Given the description of an element on the screen output the (x, y) to click on. 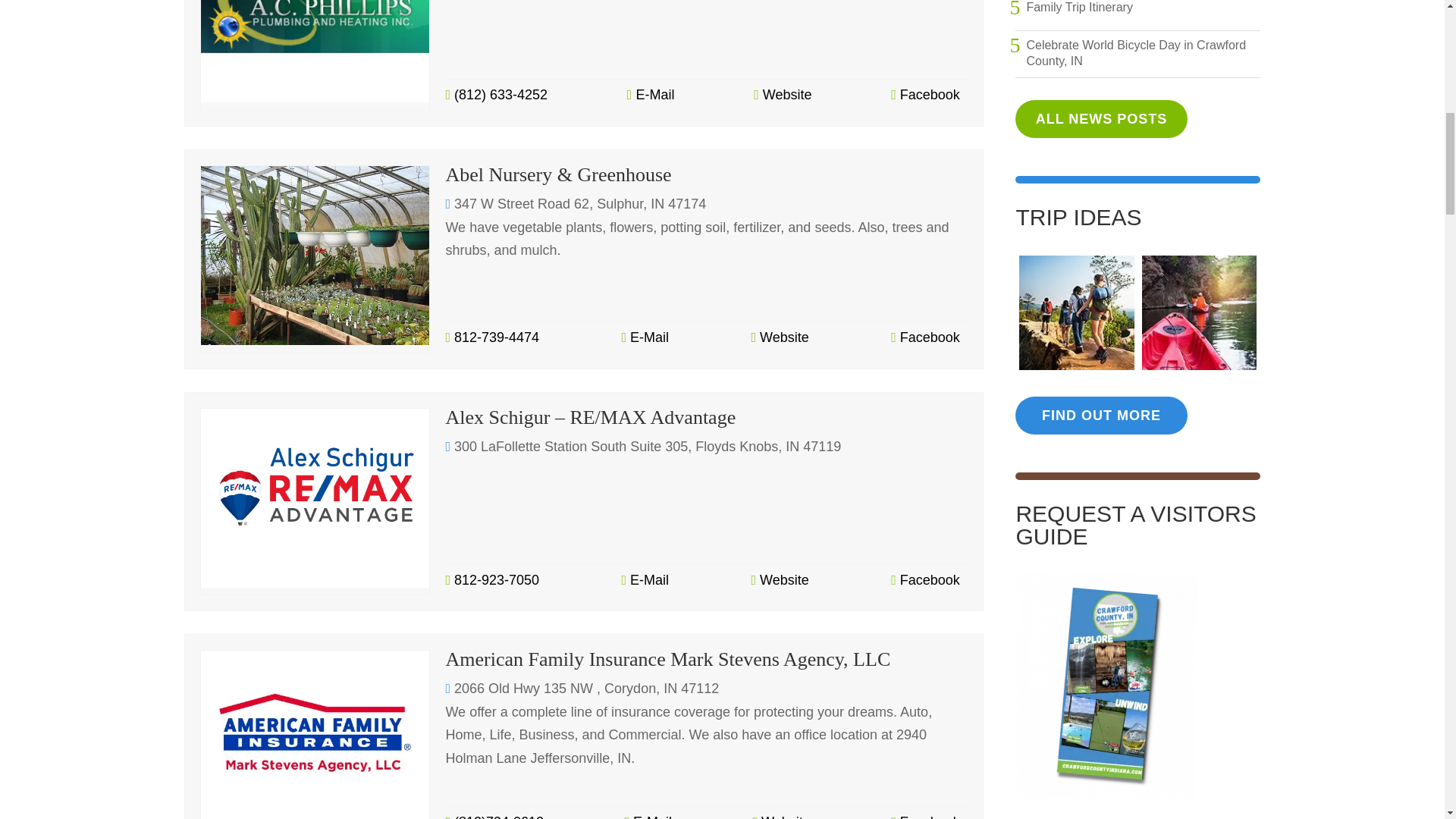
812-739-4474 (491, 337)
Facebook (925, 337)
E-Mail (645, 337)
E-Mail (645, 580)
Website (782, 95)
812-923-7050 (491, 580)
Website (780, 580)
Website (780, 337)
Facebook (925, 95)
E-Mail (651, 95)
